Given the description of an element on the screen output the (x, y) to click on. 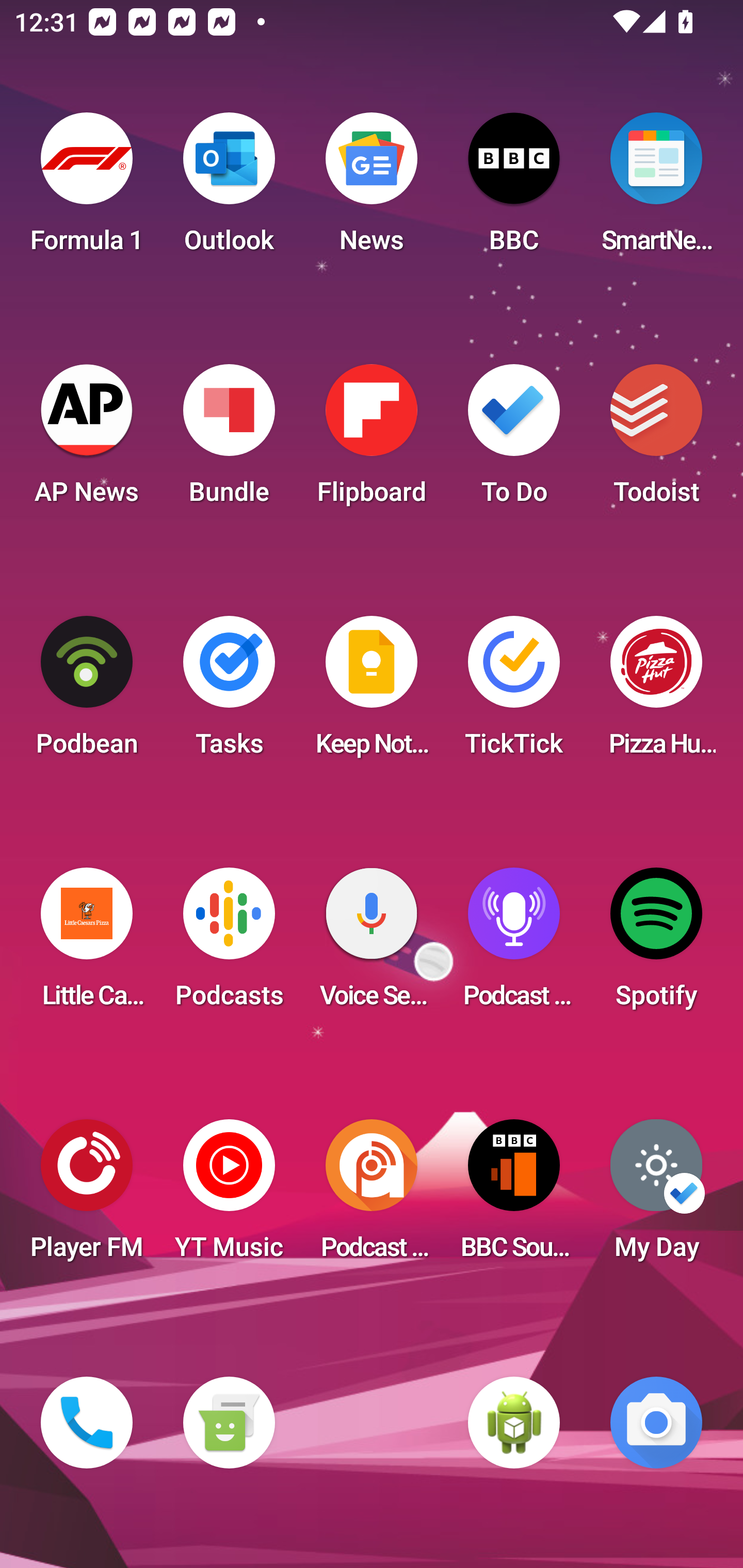
Formula 1 (86, 188)
Outlook (228, 188)
News (371, 188)
BBC (513, 188)
SmartNews (656, 188)
AP News (86, 440)
Bundle (228, 440)
Flipboard (371, 440)
To Do (513, 440)
Todoist (656, 440)
Podbean (86, 692)
Tasks (228, 692)
Keep Notes (371, 692)
TickTick (513, 692)
Pizza Hut HK & Macau (656, 692)
Little Caesars Pizza (86, 943)
Podcasts (228, 943)
Voice Search (371, 943)
Podcast Player (513, 943)
Spotify (656, 943)
Player FM (86, 1195)
YT Music (228, 1195)
Podcast Addict (371, 1195)
BBC Sounds (513, 1195)
My Day (656, 1195)
Phone (86, 1422)
Messaging (228, 1422)
WebView Browser Tester (513, 1422)
Camera (656, 1422)
